Given the description of an element on the screen output the (x, y) to click on. 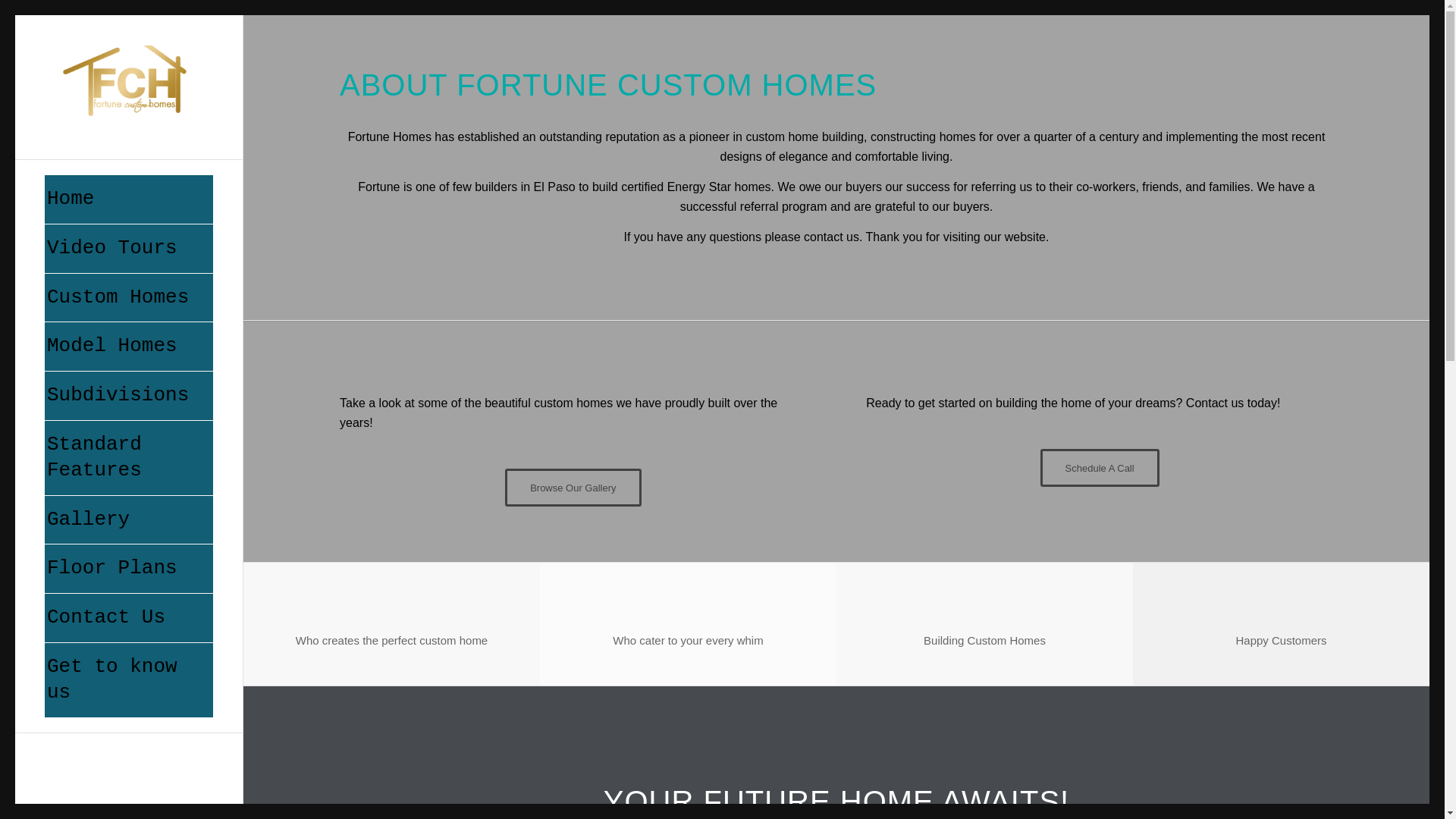
Model Homes (128, 346)
Home (128, 199)
Video Tours (128, 248)
Subdivisions (128, 395)
Custom Homes (128, 297)
Gallery (128, 520)
contact us (831, 236)
Floor Plans (128, 568)
Schedule A Call (1099, 467)
Get to know us (128, 679)
Standard Features (128, 458)
Browse Our Gallery (572, 487)
Contact Us (128, 617)
